Given the description of an element on the screen output the (x, y) to click on. 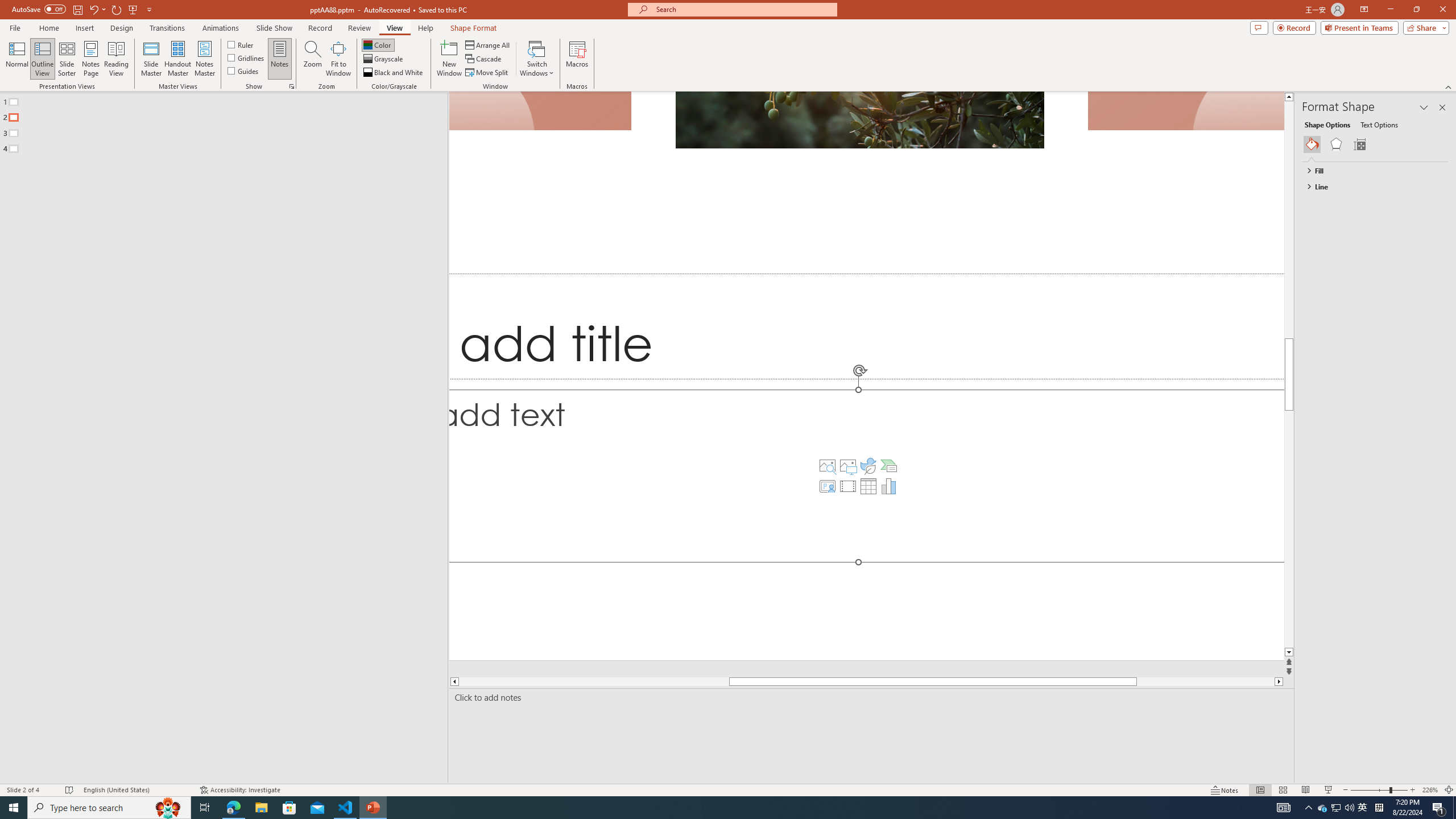
Move Split (487, 72)
Notes (279, 58)
Notes Page (90, 58)
Shape Options (1327, 124)
Guides (243, 69)
Insert Table (868, 486)
